Given the description of an element on the screen output the (x, y) to click on. 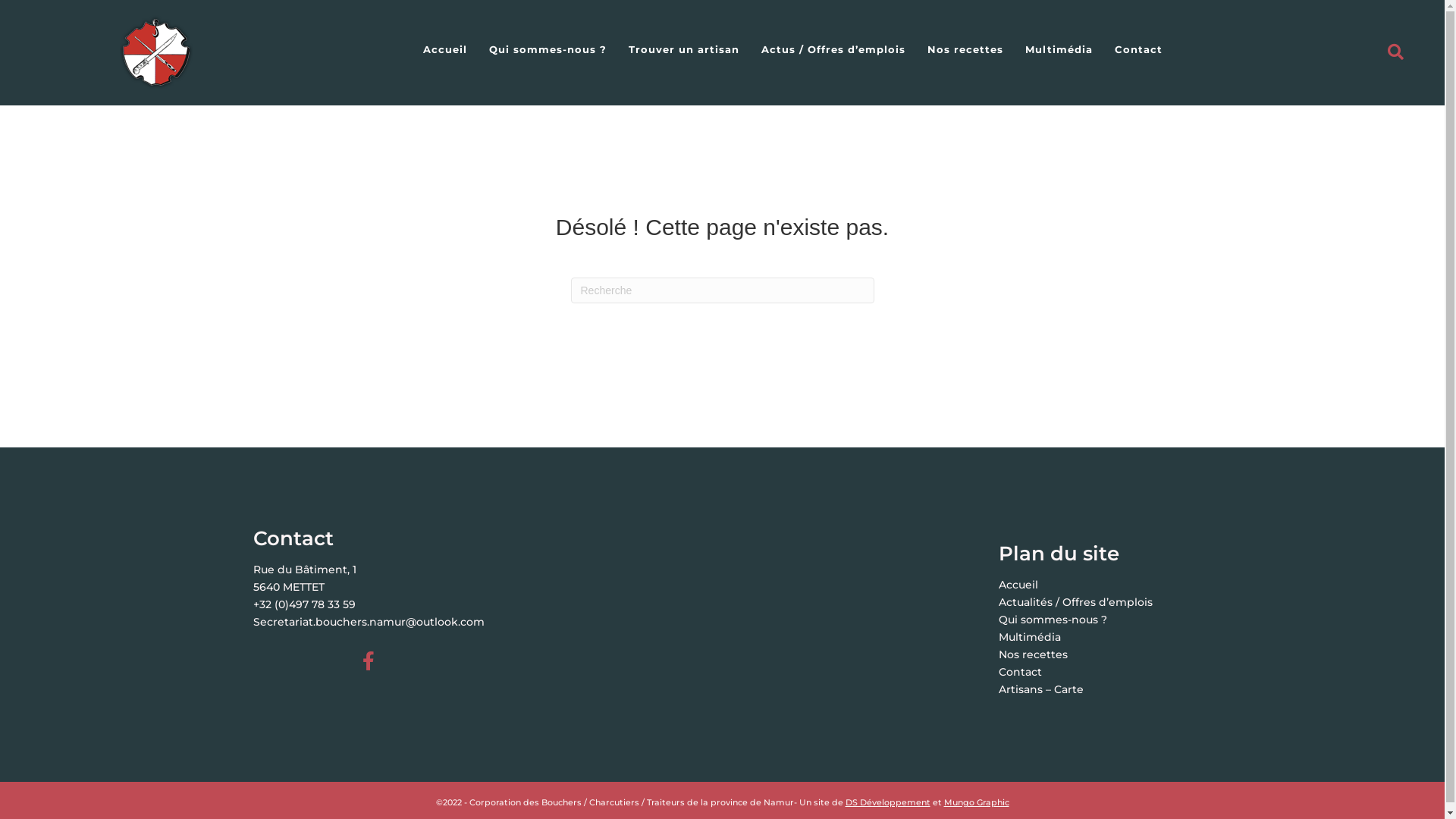
Nos recettes Element type: text (1032, 654)
Trouver un artisan Element type: text (683, 49)
Qui sommes-nous ? Element type: text (547, 49)
Accueil Element type: text (444, 49)
Contact Element type: text (1138, 49)
logo-corporation Element type: hover (156, 52)
Mungo Graphic Element type: text (975, 802)
Nos recettes Element type: text (964, 49)
+32 (0)497 78 33 59 Element type: text (304, 604)
Contact Element type: text (1019, 671)
Secretariat.bouchers.namur@outlook.com Element type: text (368, 621)
Qui sommes-nous ? Element type: text (1052, 619)
Accueil Element type: text (1018, 584)
